Given the description of an element on the screen output the (x, y) to click on. 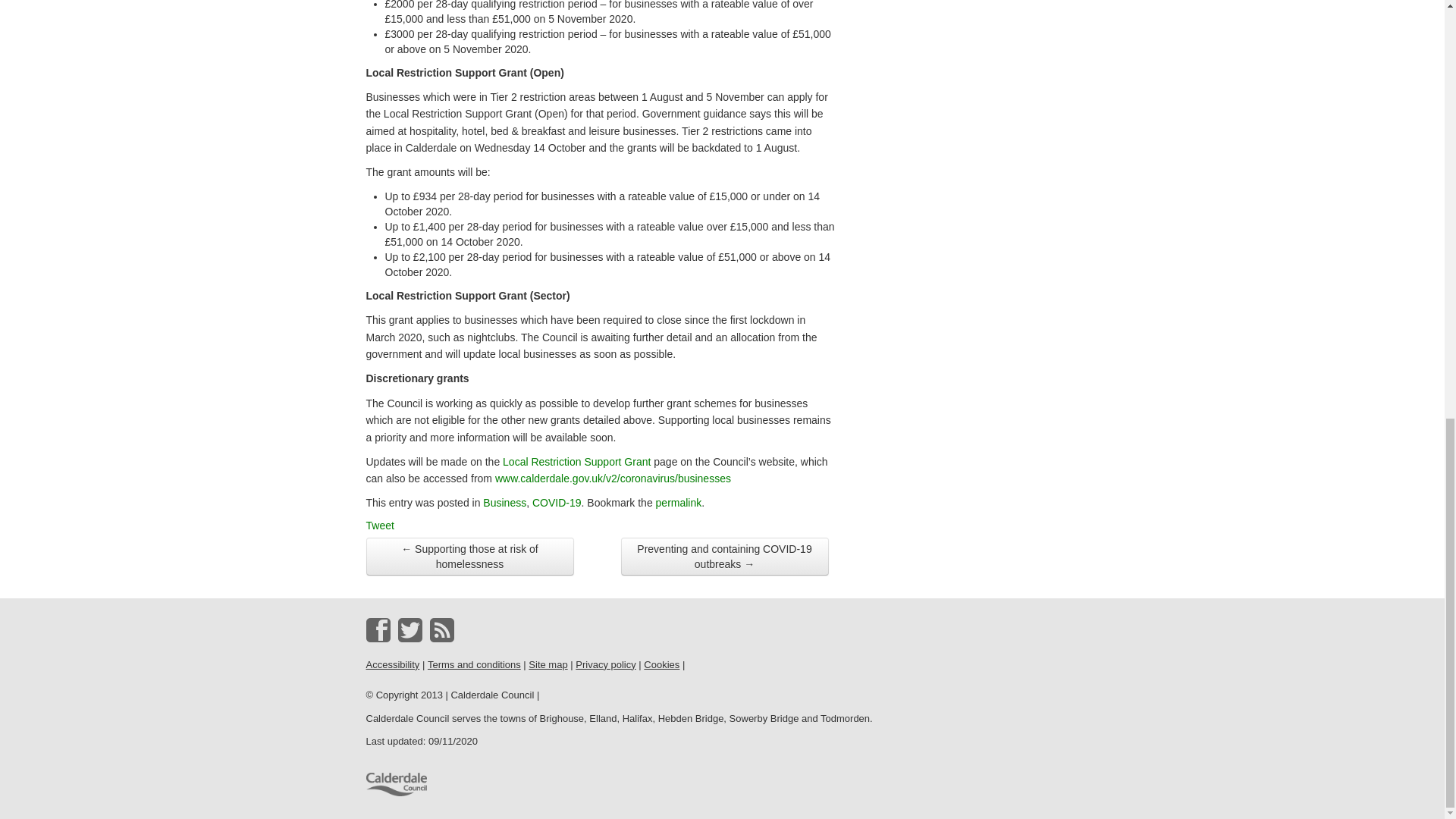
COVID-19 (556, 502)
RSS (440, 630)
Local Restriction Support Grant (576, 461)
Tweet (379, 525)
Permalink to New COVID-19 business grants set to launch (678, 502)
Facebook (377, 630)
permalink (678, 502)
Twitter (409, 630)
Business (504, 502)
